Given the description of an element on the screen output the (x, y) to click on. 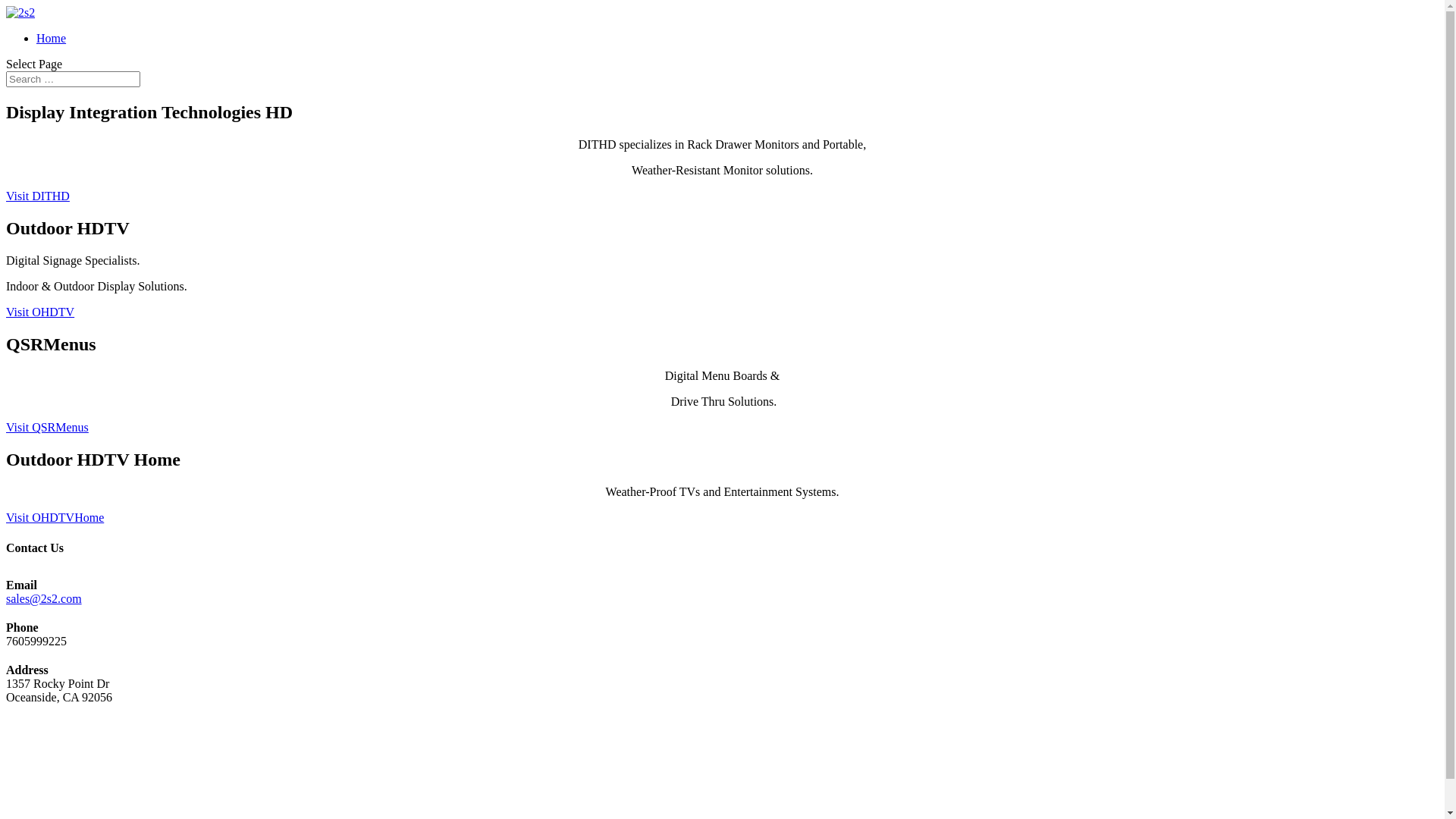
Search for: Element type: hover (73, 79)
Visit DITHD Element type: text (37, 195)
Visit OHDTVHome Element type: text (54, 517)
Visit OHDTV Element type: text (40, 311)
Home Element type: text (50, 37)
sales@2s2.com Element type: text (43, 598)
Visit QSRMenus Element type: text (47, 426)
